Given the description of an element on the screen output the (x, y) to click on. 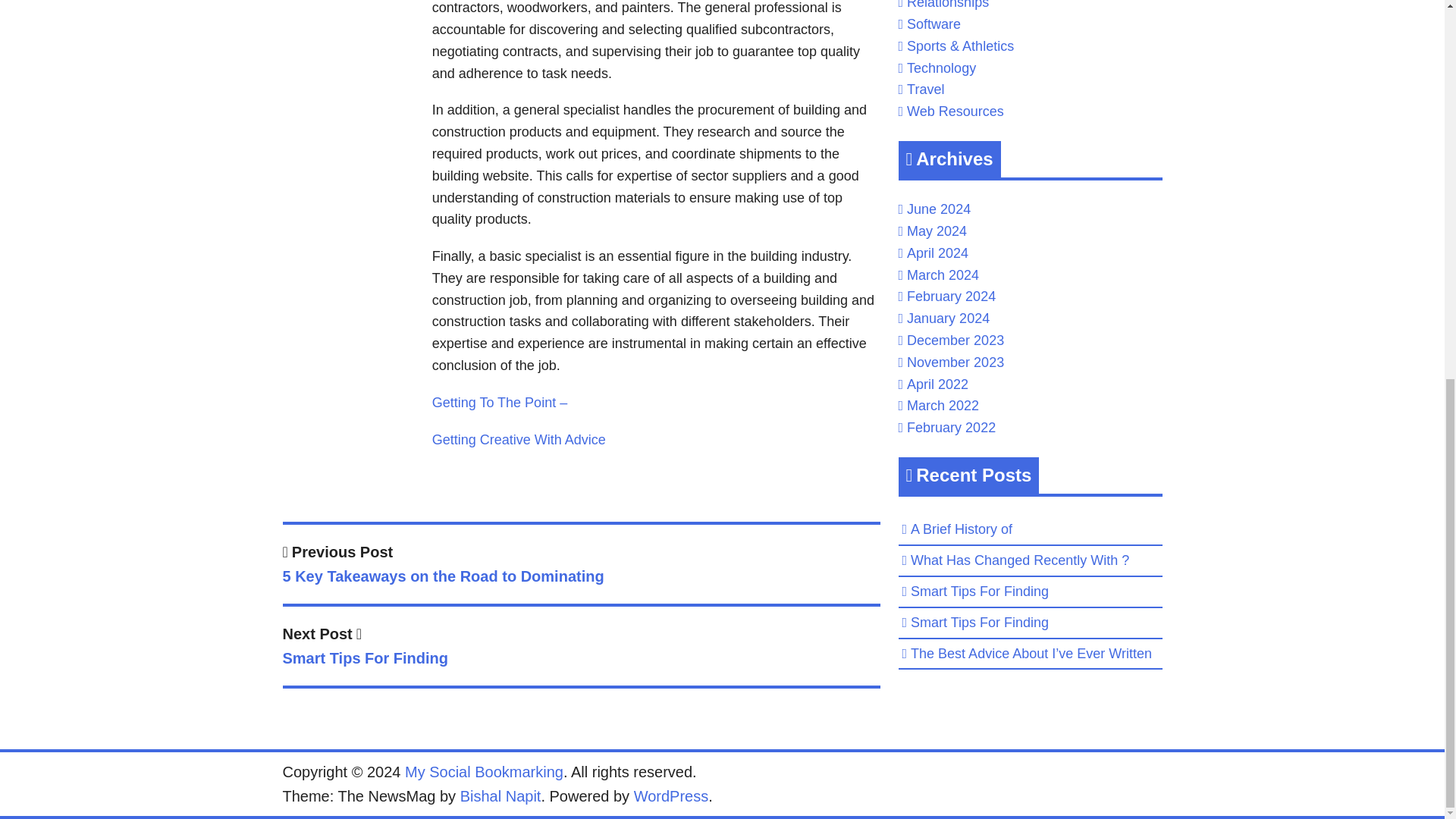
WordPress (671, 795)
Software (933, 23)
Relationships (947, 4)
My Social Bookmarking (483, 771)
Travel (925, 89)
Getting Creative With Advice (518, 439)
Web Resources (955, 111)
Bishal Napit (500, 795)
Technology (941, 68)
